Given the description of an element on the screen output the (x, y) to click on. 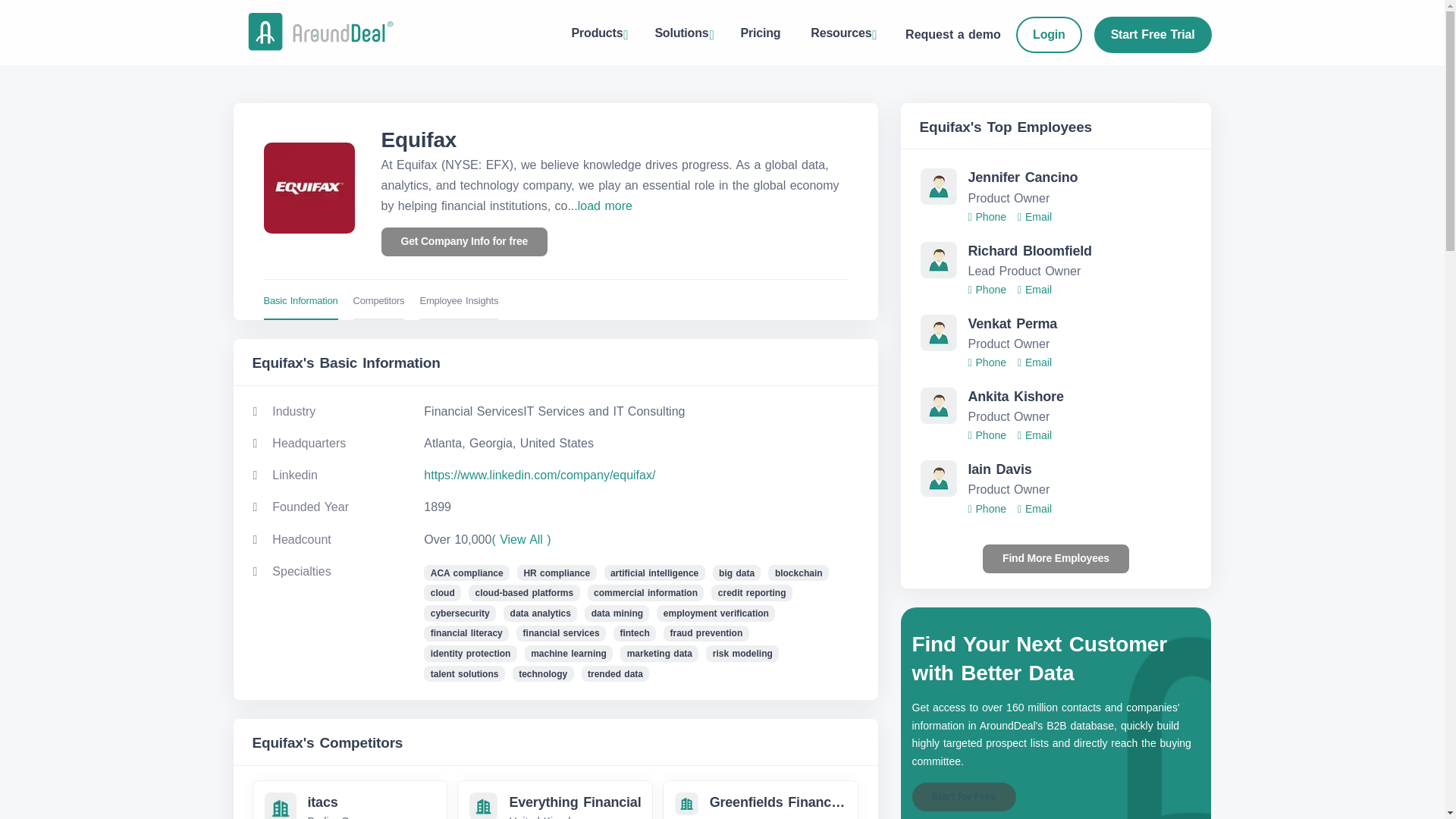
credit reporting (751, 592)
Request a demo (954, 34)
financial literacy (465, 633)
marketing data (659, 653)
Products (555, 301)
Basic Information (598, 34)
load more (300, 301)
ACA compliance (604, 205)
employment verification (466, 573)
